Given the description of an element on the screen output the (x, y) to click on. 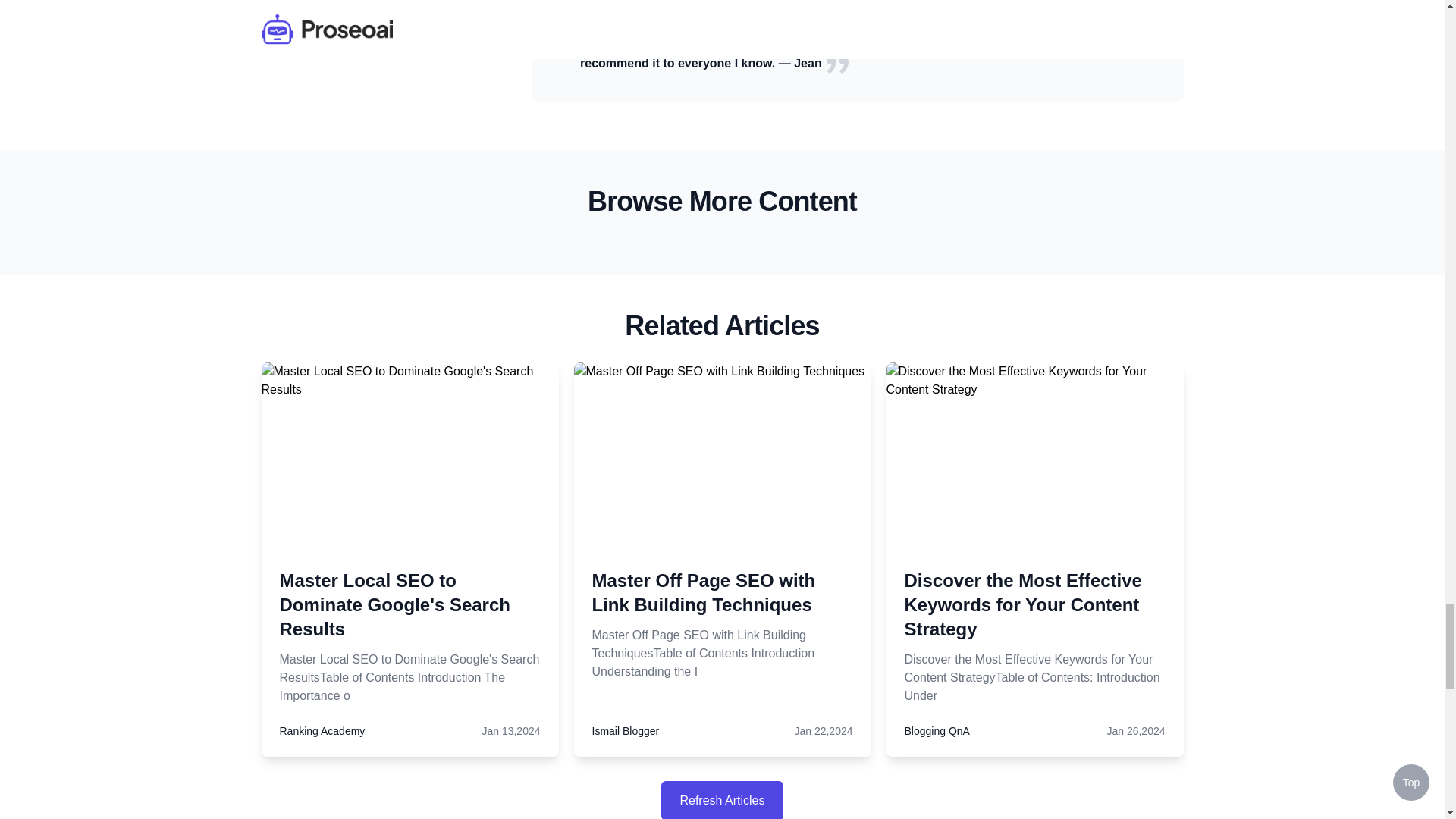
Ranking Academy (322, 730)
Blogging QnA (936, 730)
Ismail Blogger (625, 730)
